Given the description of an element on the screen output the (x, y) to click on. 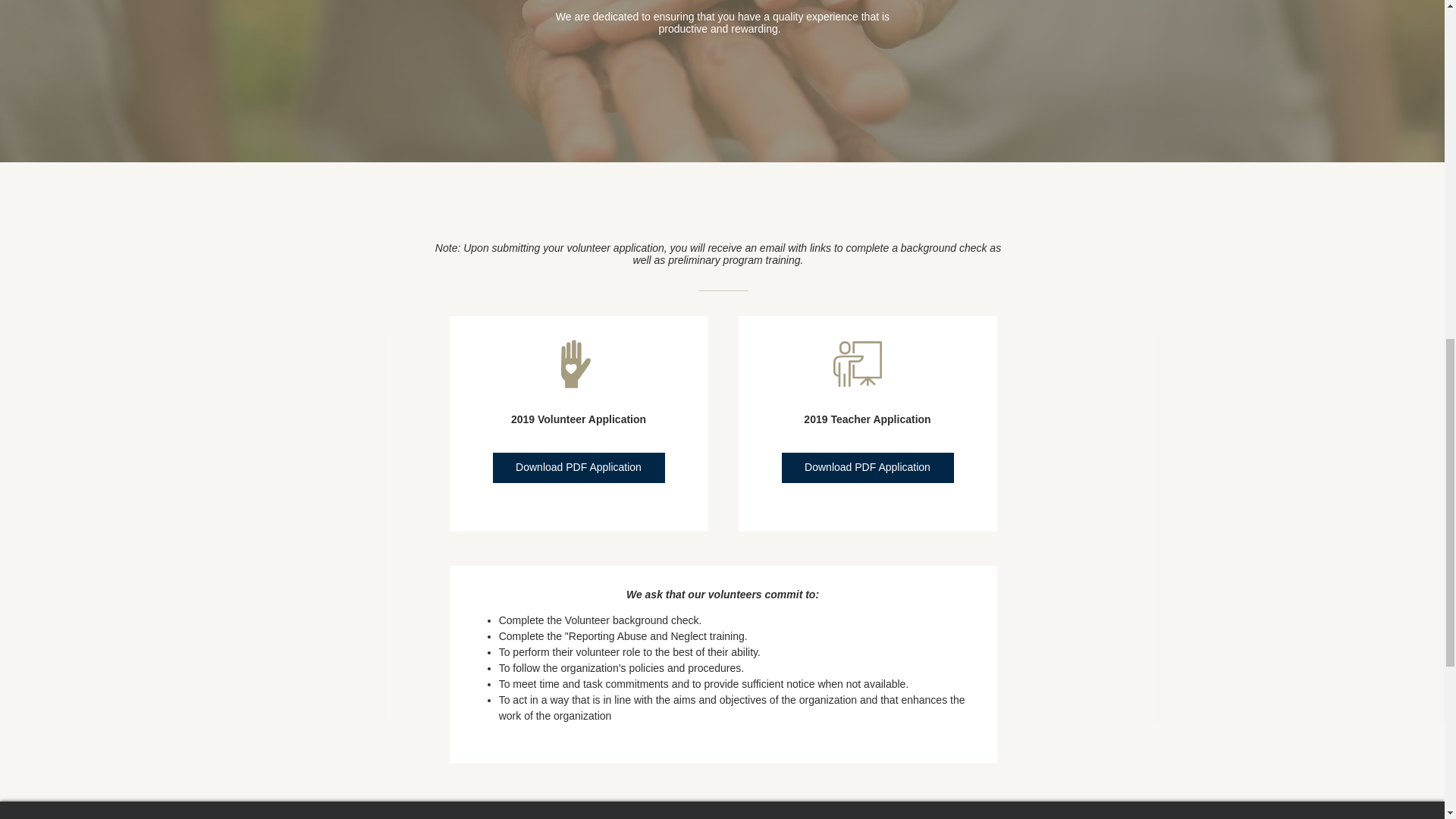
Download PDF Application (579, 467)
Download PDF Application (866, 467)
